Given the description of an element on the screen output the (x, y) to click on. 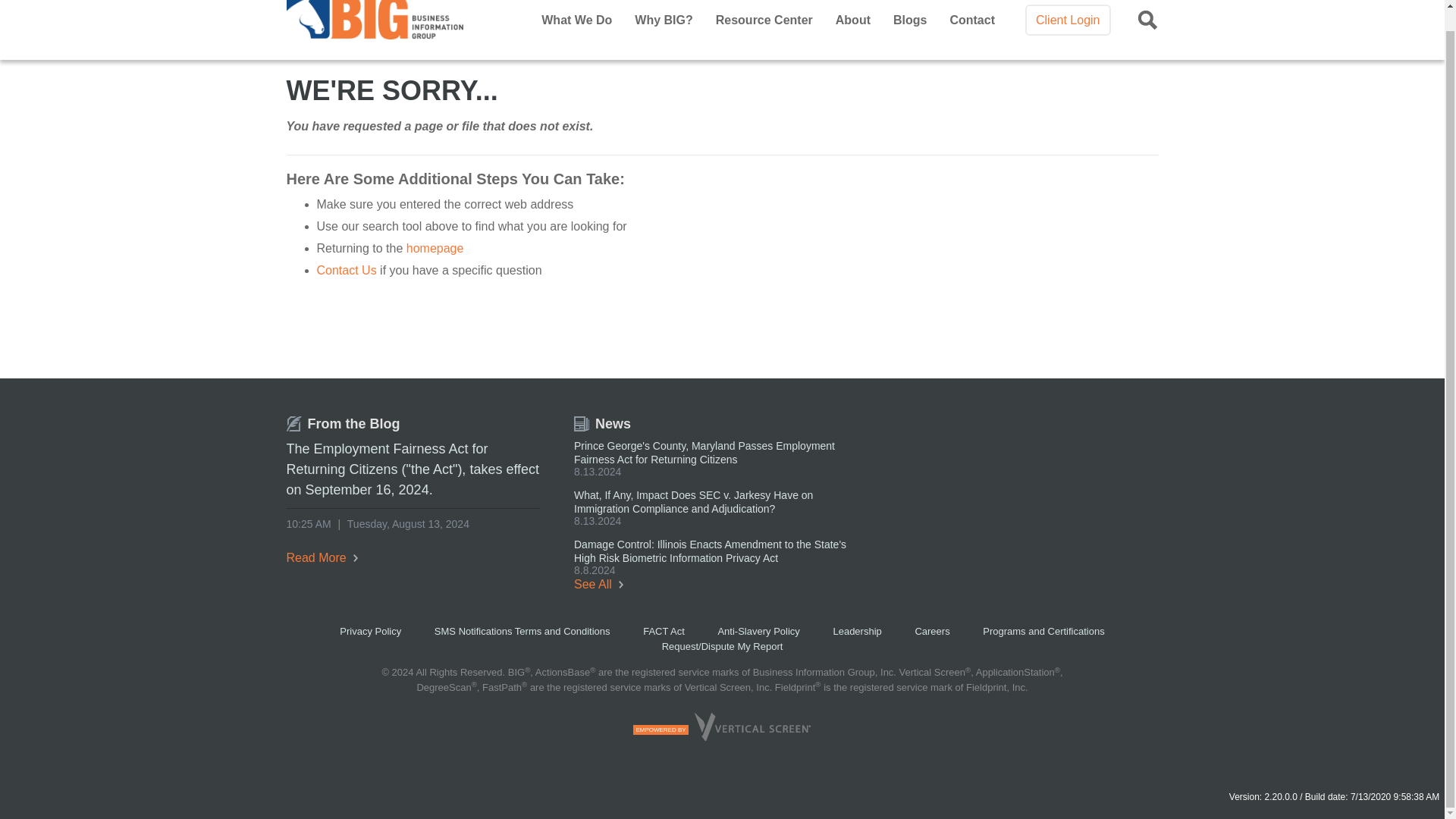
News (601, 423)
EMPOWERED BY (721, 736)
SMS Notifications Terms and Conditions (523, 631)
FACT Act (664, 631)
Careers (933, 631)
Leadership (857, 631)
Client Login (1067, 20)
Contact (971, 19)
Anti-Slavery Policy (758, 631)
